Given the description of an element on the screen output the (x, y) to click on. 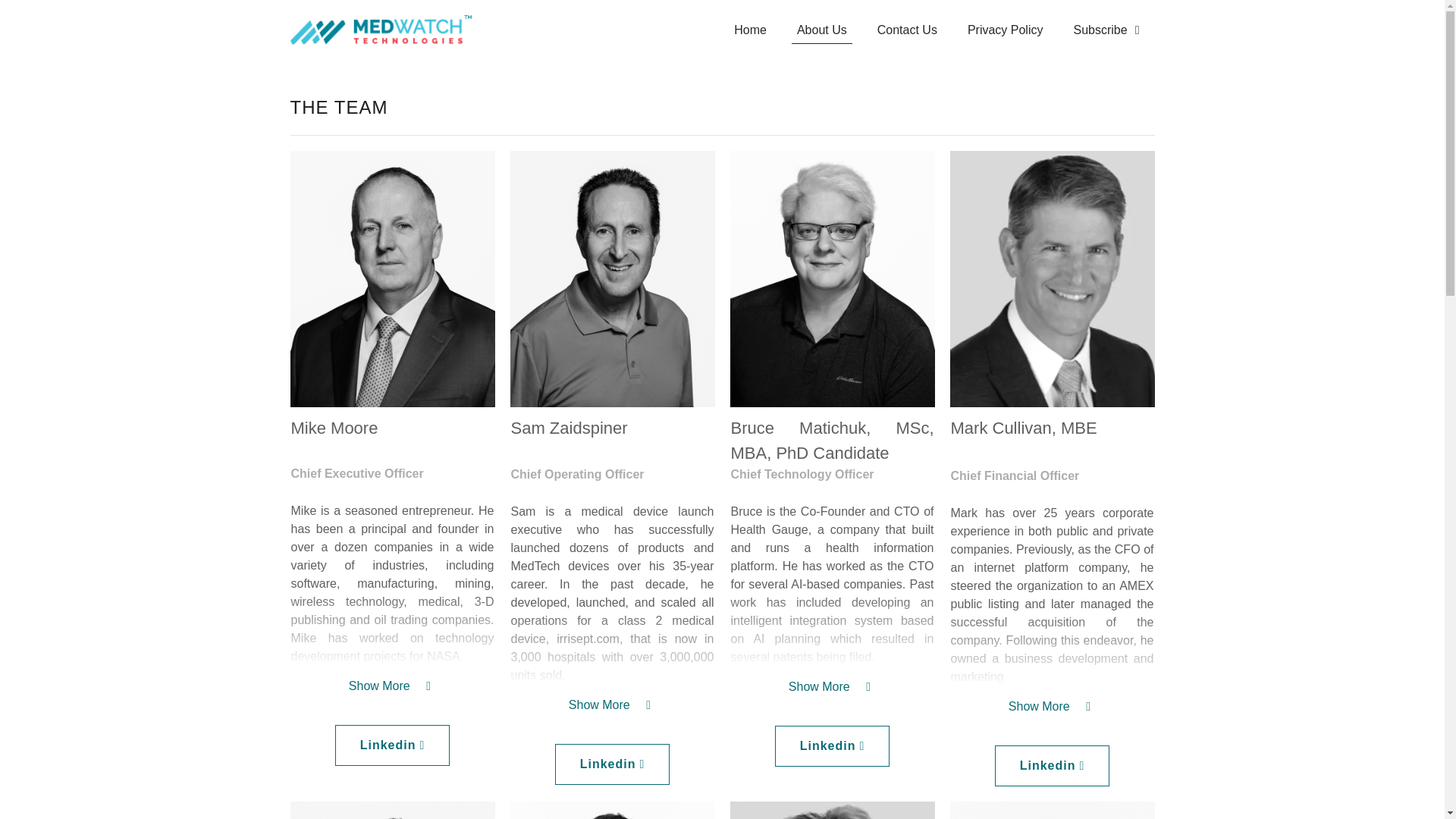
Jared P. Jones, PhD (611, 809)
Kevin Kapov (392, 809)
Subscribe (1106, 30)
Andres Tovar (1051, 809)
Home (750, 30)
Contact Us (906, 30)
Geraldine-Cunniffe-Conlon-e1695228251762 (831, 809)
About Us (821, 30)
Privacy Policy (1005, 30)
